Given the description of an element on the screen output the (x, y) to click on. 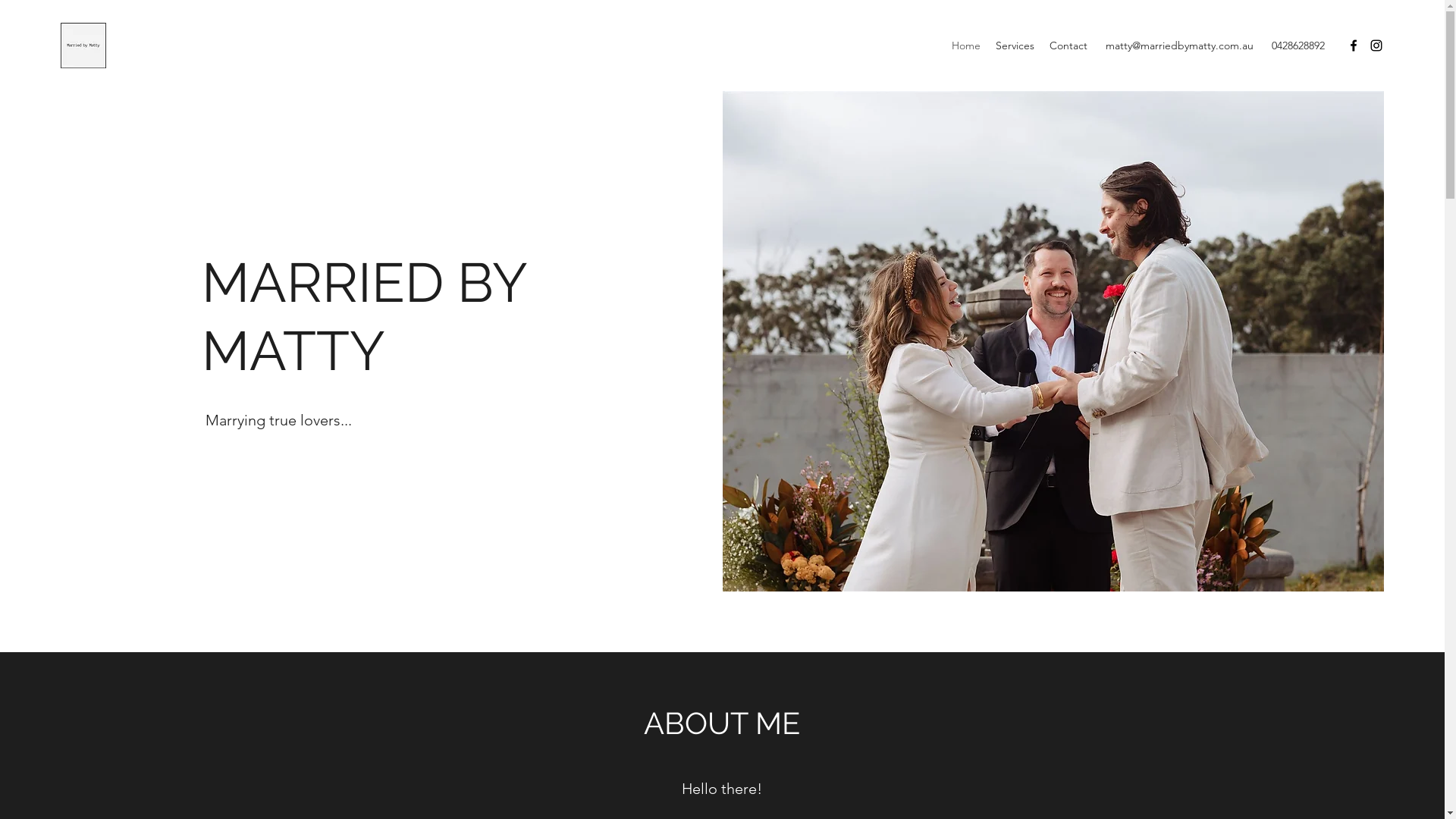
matty@marriedbymatty.com.au Element type: text (1179, 45)
Home Element type: text (966, 45)
Contact Element type: text (1068, 45)
Services Element type: text (1014, 45)
